Given the description of an element on the screen output the (x, y) to click on. 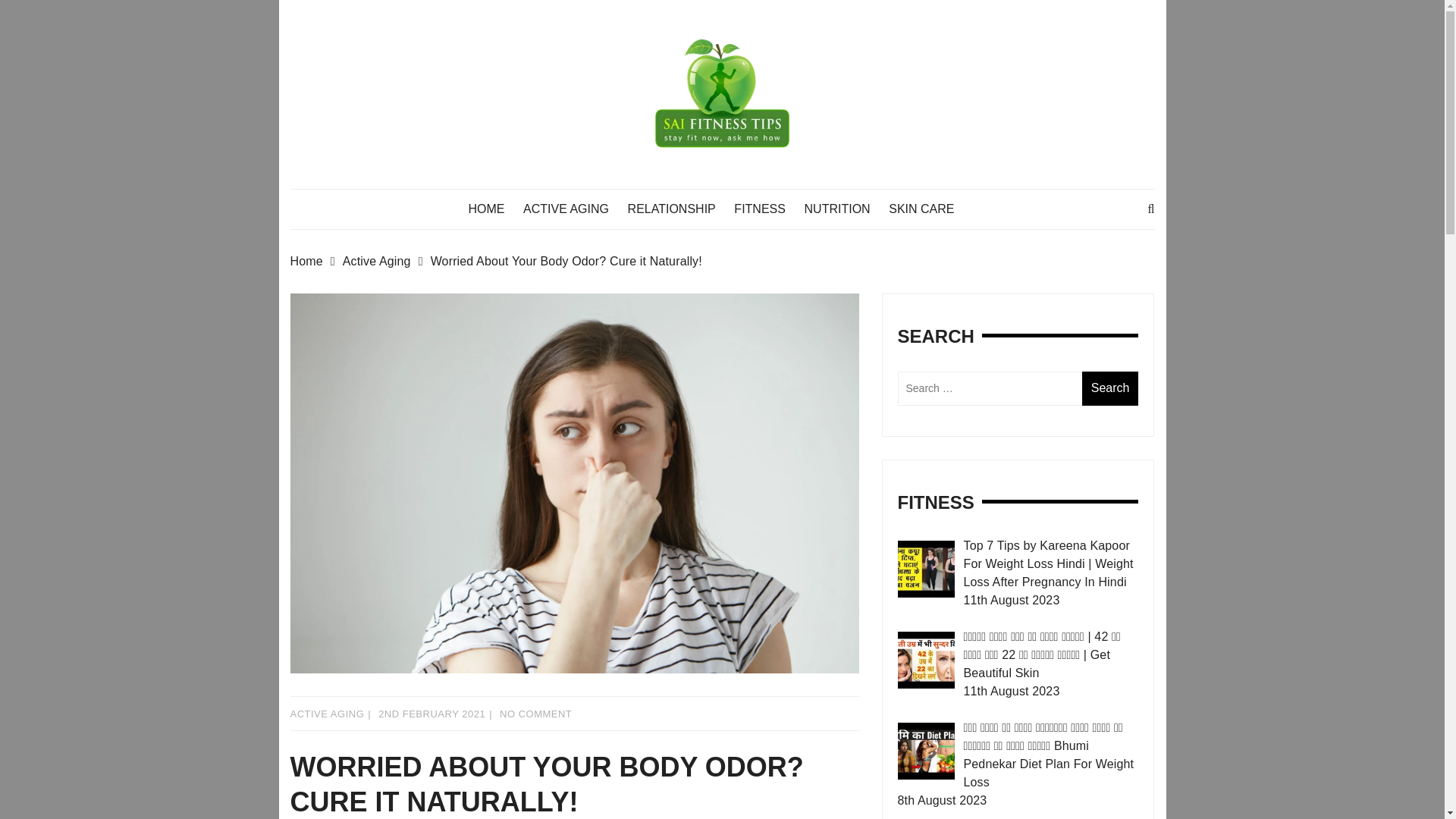
FITNESS (766, 209)
ACTIVE AGING (573, 209)
Home (315, 261)
Active Aging (386, 261)
RELATIONSHIP (678, 209)
2ND FEBRUARY 2021 (431, 713)
SKIN CARE (928, 209)
Search (1109, 388)
HOME (493, 209)
NUTRITION (845, 209)
Search (1109, 388)
ACTIVE AGING (326, 713)
